Given the description of an element on the screen output the (x, y) to click on. 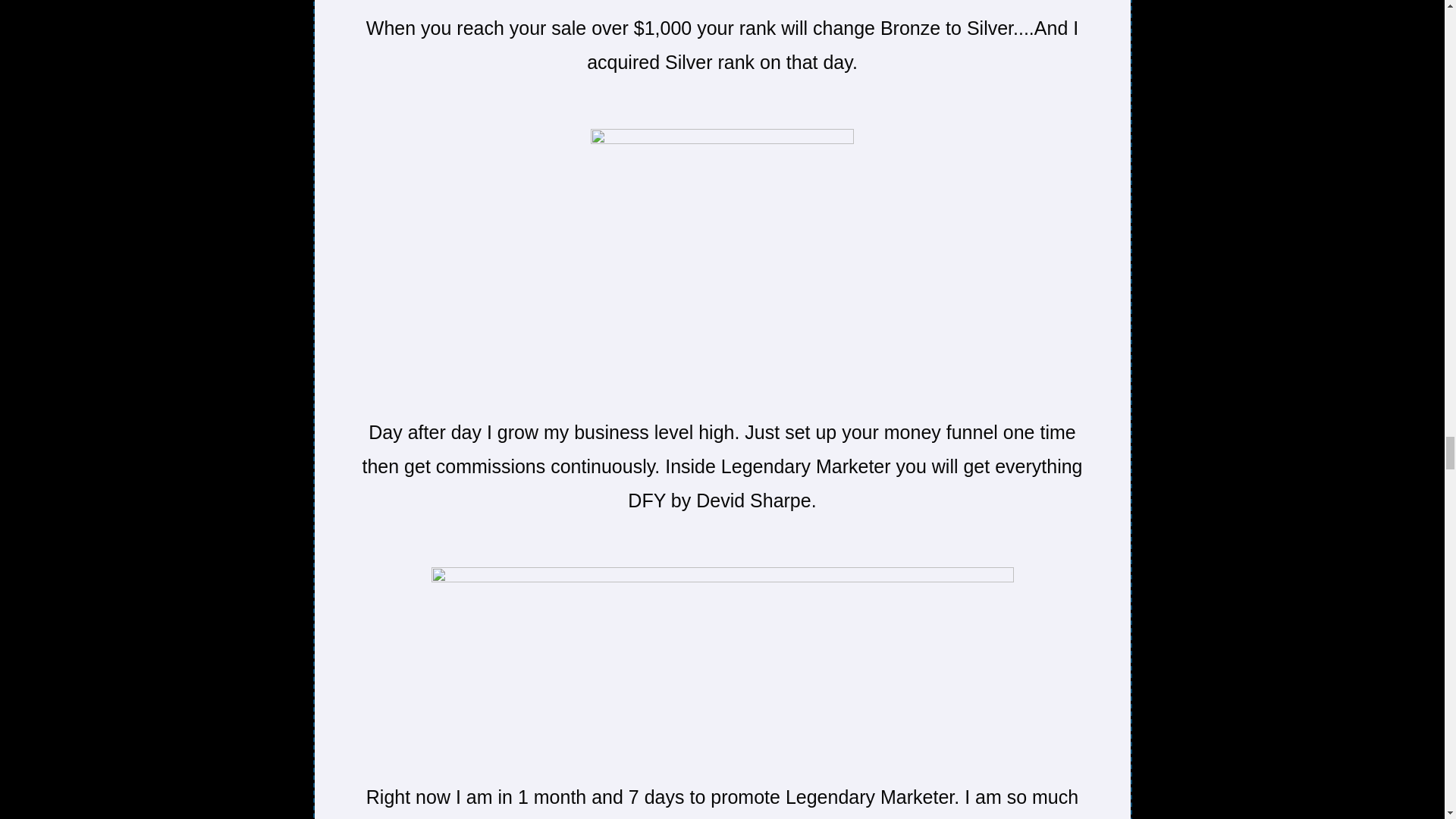
silver (722, 253)
Legendary-Marketer-Review-1-768x228 (721, 653)
